Given the description of an element on the screen output the (x, y) to click on. 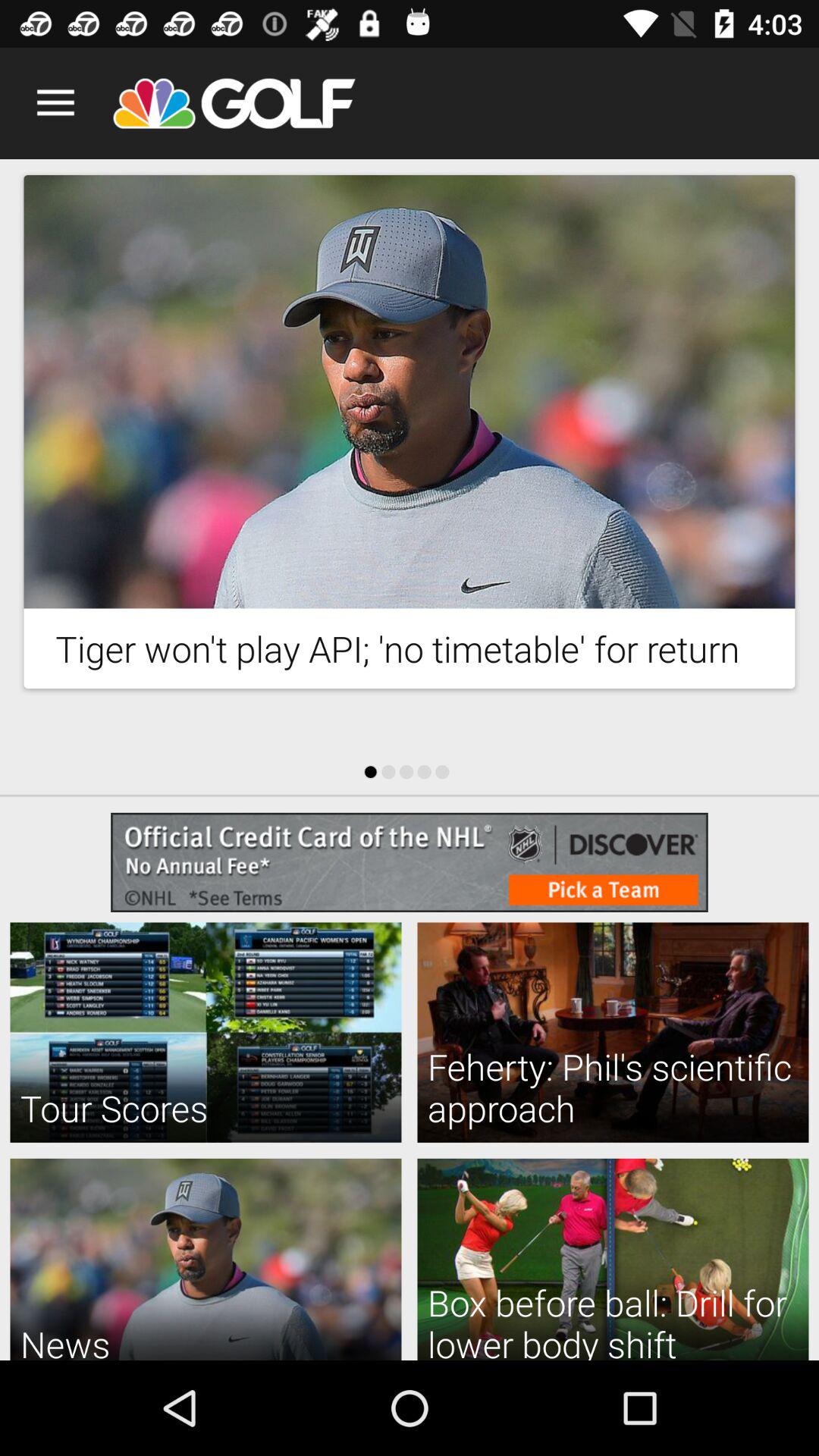
go to website (409, 862)
